Given the description of an element on the screen output the (x, y) to click on. 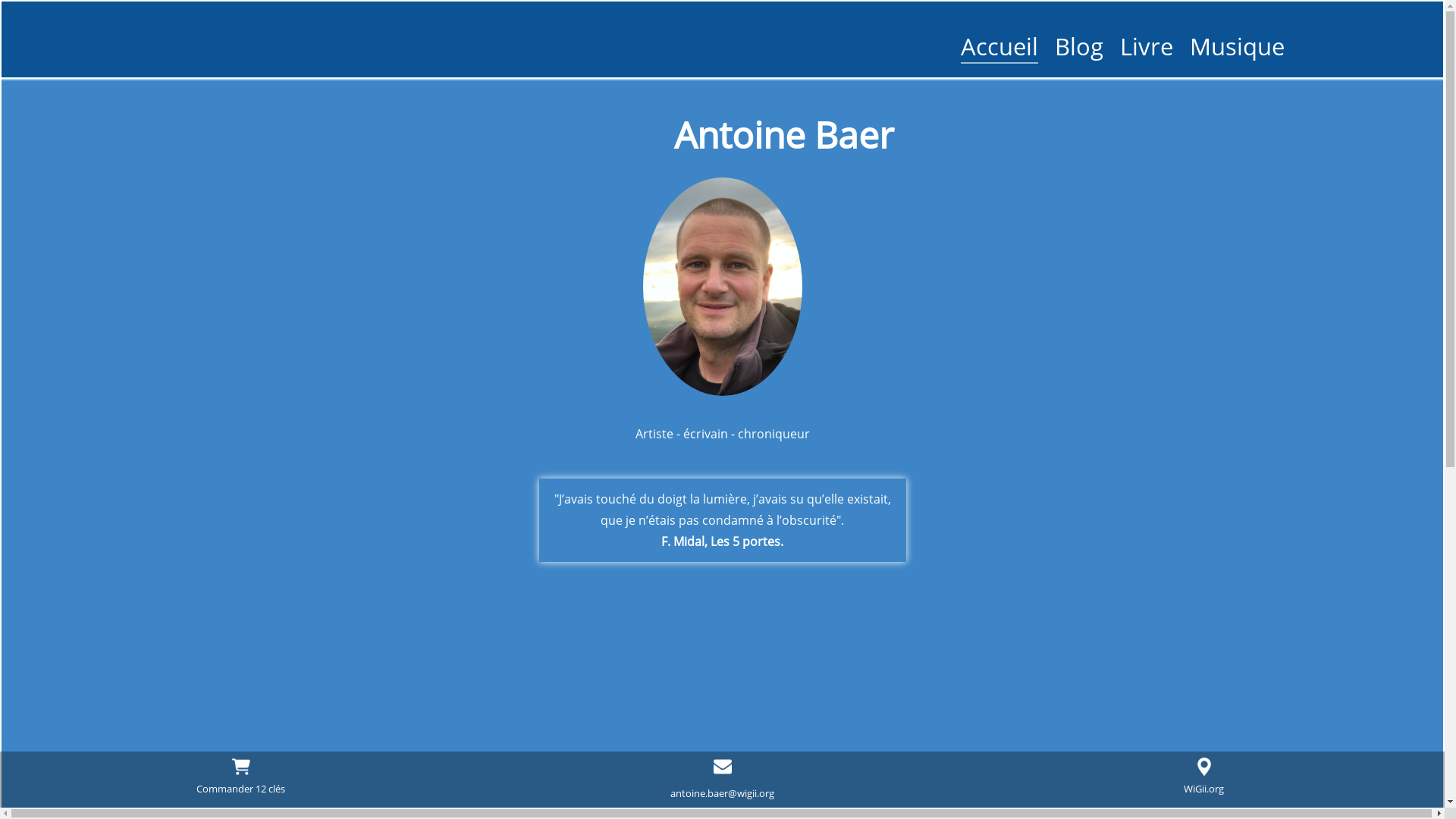
WiGii.org Element type: text (1203, 774)
antoine.baer@wigii.org Element type: text (722, 793)
Accueil Element type: text (999, 46)
Musique Element type: text (1236, 46)
Livre Element type: text (1146, 46)
Blog Element type: text (1078, 46)
